Given the description of an element on the screen output the (x, y) to click on. 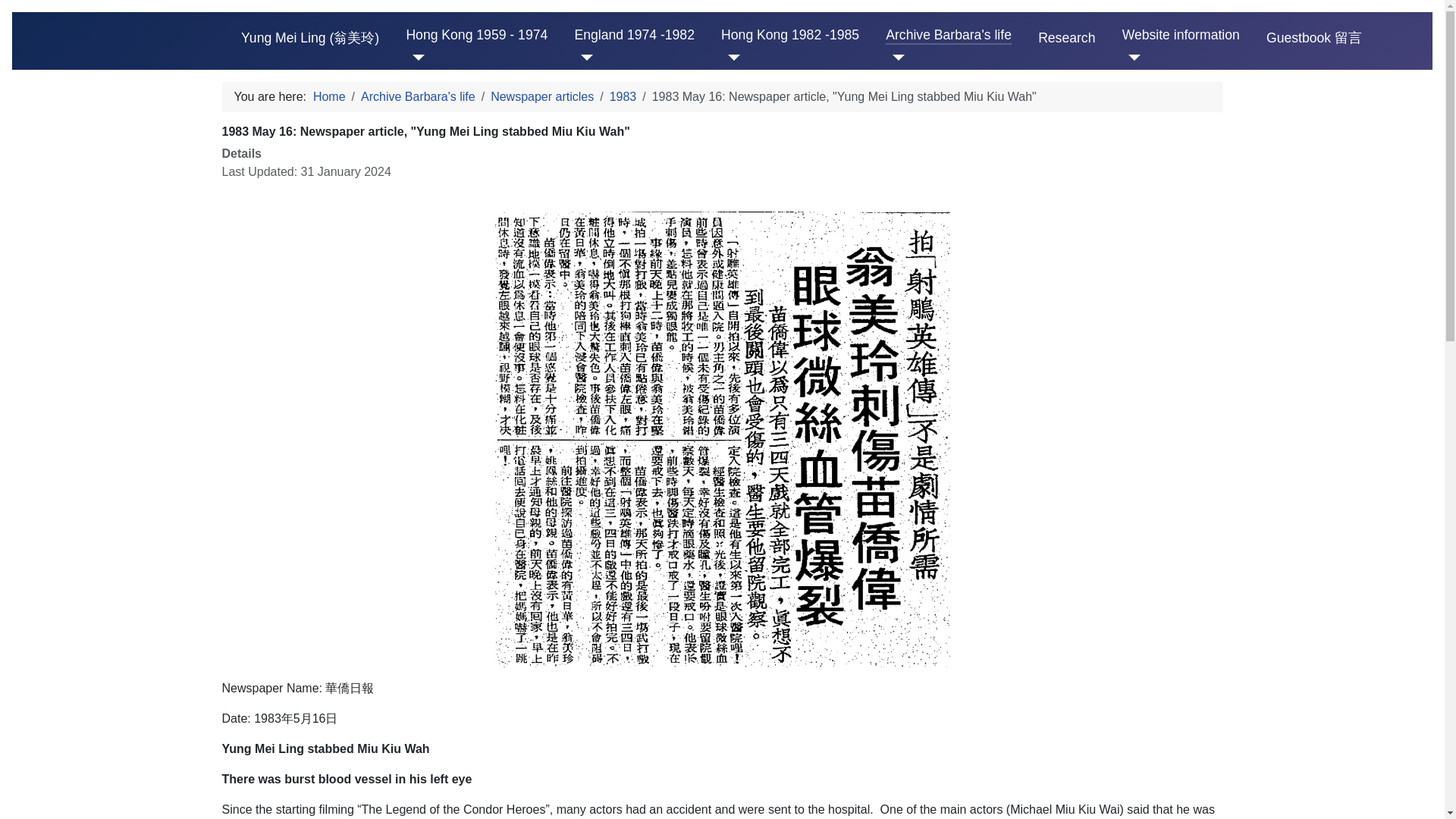
Archive Barbara's life (948, 35)
England 1974 -1982 (633, 35)
Hong Kong 1959 - 1974 (476, 35)
Hong Kong 1982 -1985 (789, 35)
